Given the description of an element on the screen output the (x, y) to click on. 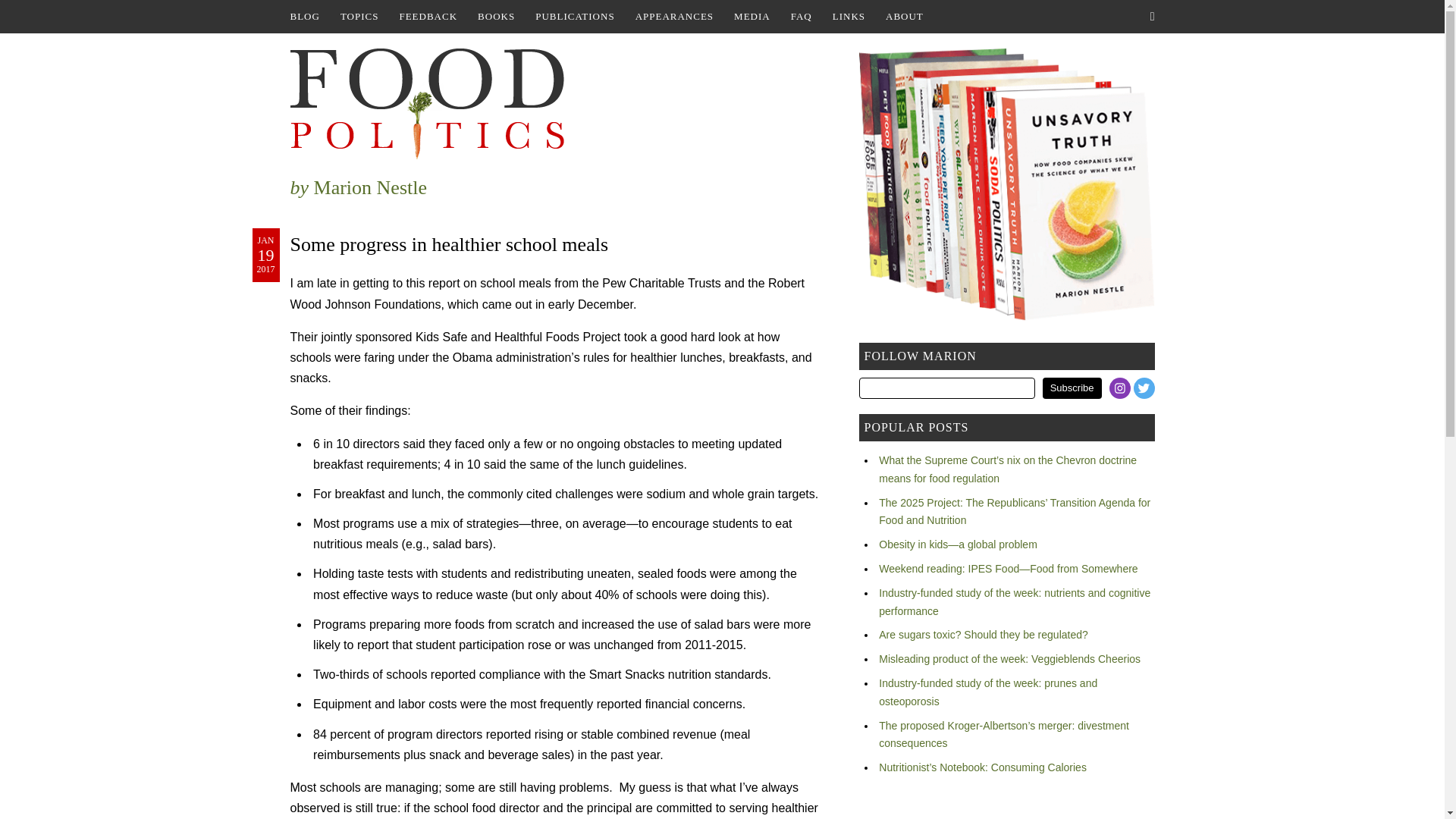
TOPICS (360, 16)
PUBLICATIONS (574, 16)
ABOUT (904, 16)
Subscribe (1072, 387)
LINKS (848, 16)
Twitter (1143, 388)
APPEARANCES (673, 16)
FEEDBACK (427, 16)
BOOKS (496, 16)
BLOG (304, 16)
FAQ (801, 16)
MEDIA (751, 16)
Subscribe (1072, 387)
Instagram (1118, 387)
